Given the description of an element on the screen output the (x, y) to click on. 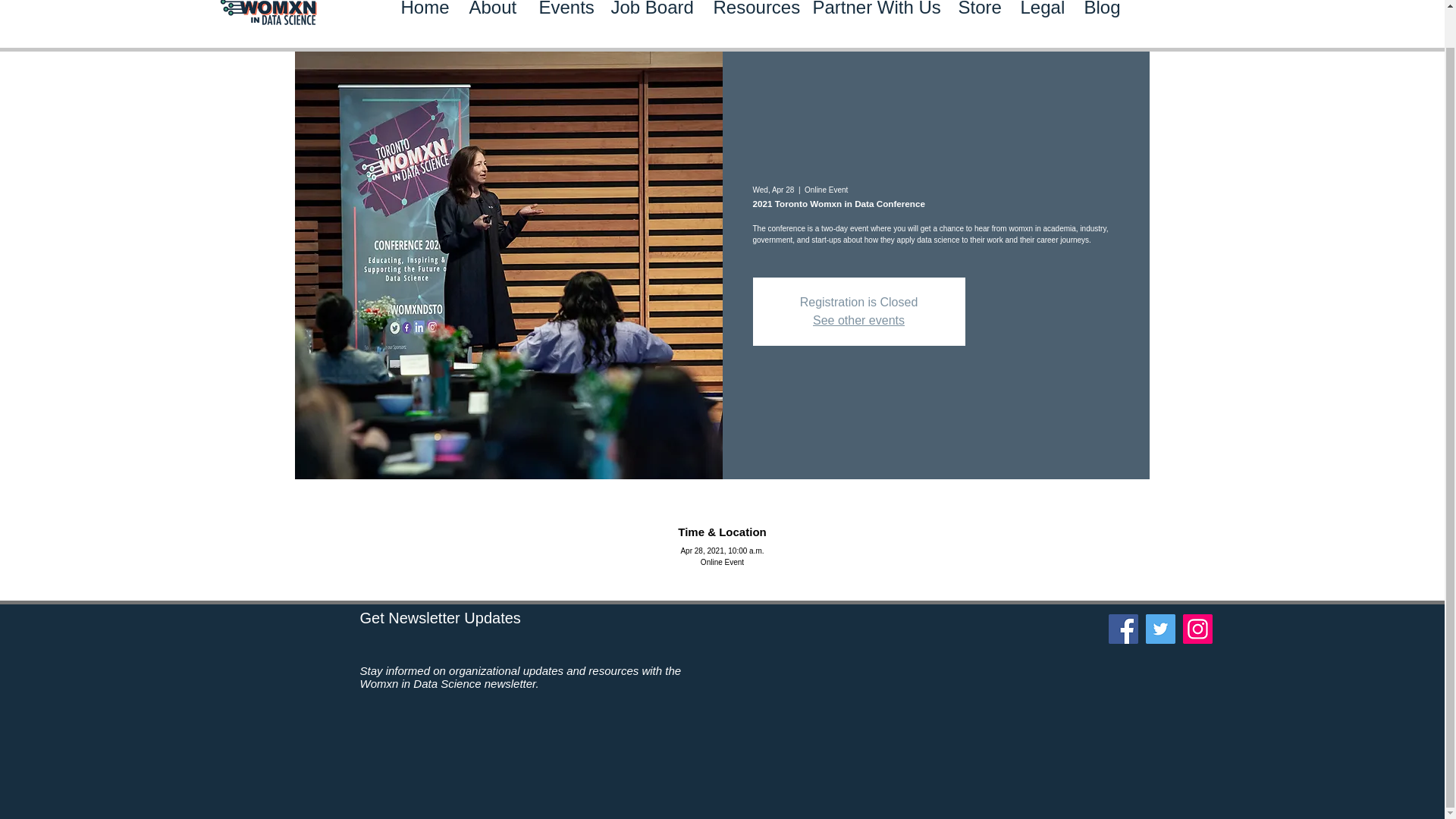
Store (977, 24)
Job Board (649, 24)
Home (424, 24)
Blog (1100, 24)
See other events (858, 319)
About (492, 24)
